Given the description of an element on the screen output the (x, y) to click on. 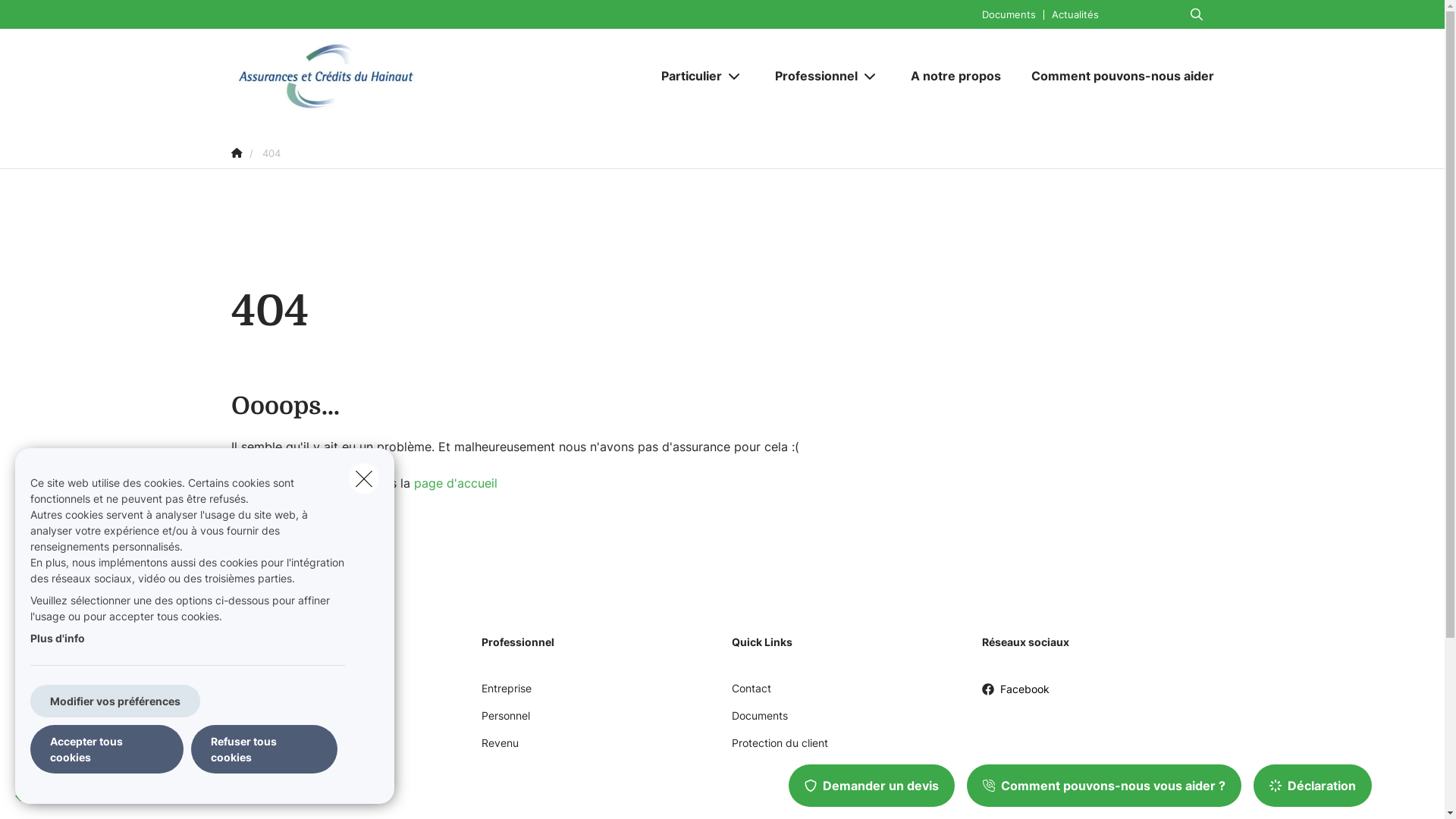
Accepter tous cookies Element type: text (106, 748)
Demander un devis Element type: text (871, 785)
Hospitalisation Element type: text (266, 775)
Plus d'info Element type: text (57, 637)
Particulier Element type: text (685, 75)
Refuser tous cookies Element type: text (264, 748)
Rechercher Element type: text (54, 18)
Comment pouvons-nous aider Element type: text (1115, 75)
Contact Element type: text (750, 693)
Personnel Element type: text (504, 720)
Documents Element type: text (759, 720)
Documents Element type: text (1007, 13)
A notre propos Element type: text (954, 75)
Famille et protection juridique Element type: text (303, 748)
Comment pouvons-nous vous aider ? Element type: text (1103, 785)
Habitation Element type: text (255, 720)
Facebook Element type: text (1014, 694)
Revenu Element type: text (498, 748)
page d'accueil Element type: text (455, 482)
Protection du client Element type: text (779, 748)
Professionnel Element type: text (810, 75)
Entreprise Element type: text (505, 693)
